Given the description of an element on the screen output the (x, y) to click on. 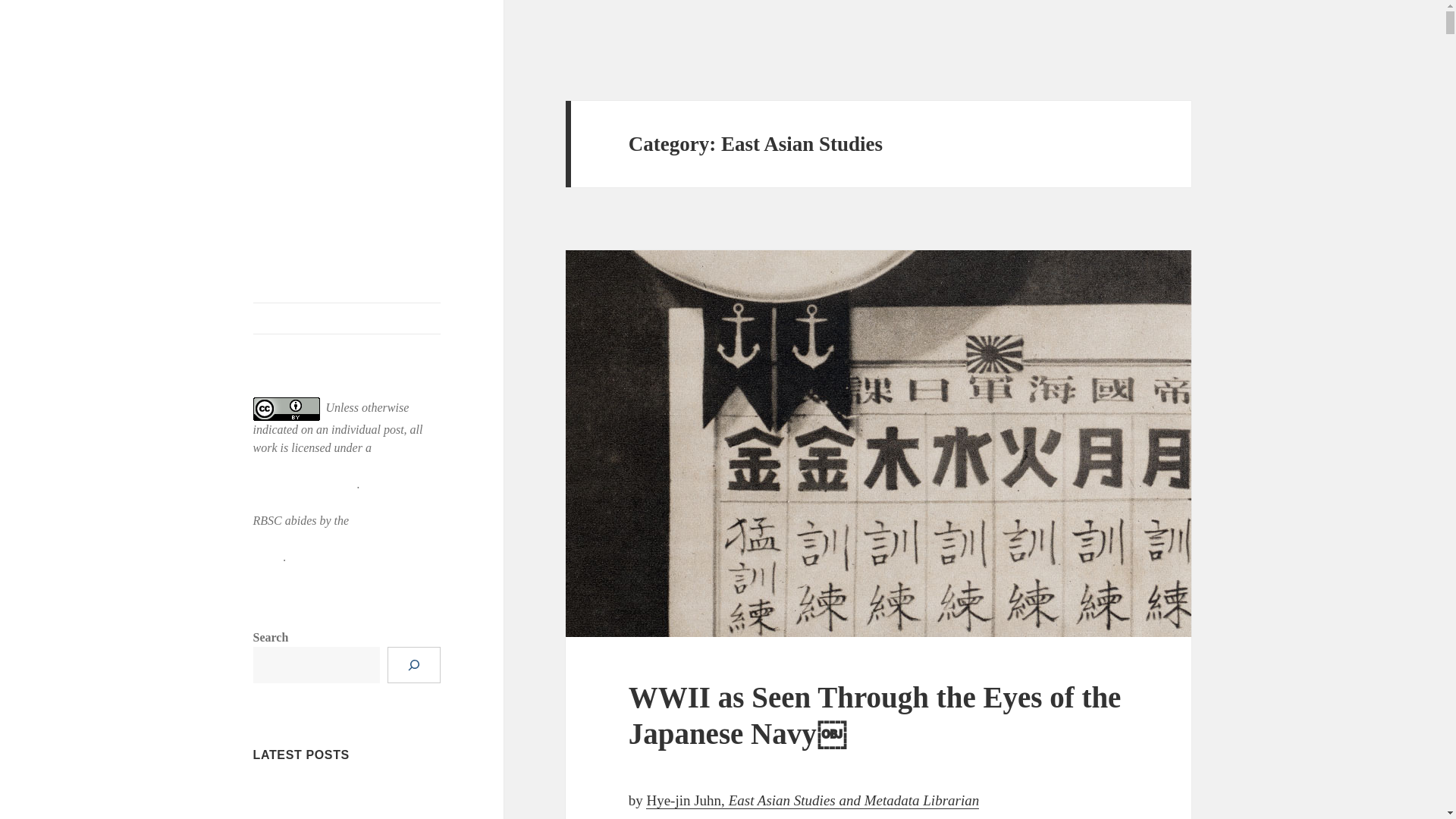
RBSC Website (347, 318)
RBSC at ND (312, 112)
Hesburgh Libraries Copyright and Takedown Policy (338, 538)
Welcome Back! Fall 2024 in Special Collections (341, 799)
Creative Commons Attribution 4.0 International License (334, 465)
